Given the description of an element on the screen output the (x, y) to click on. 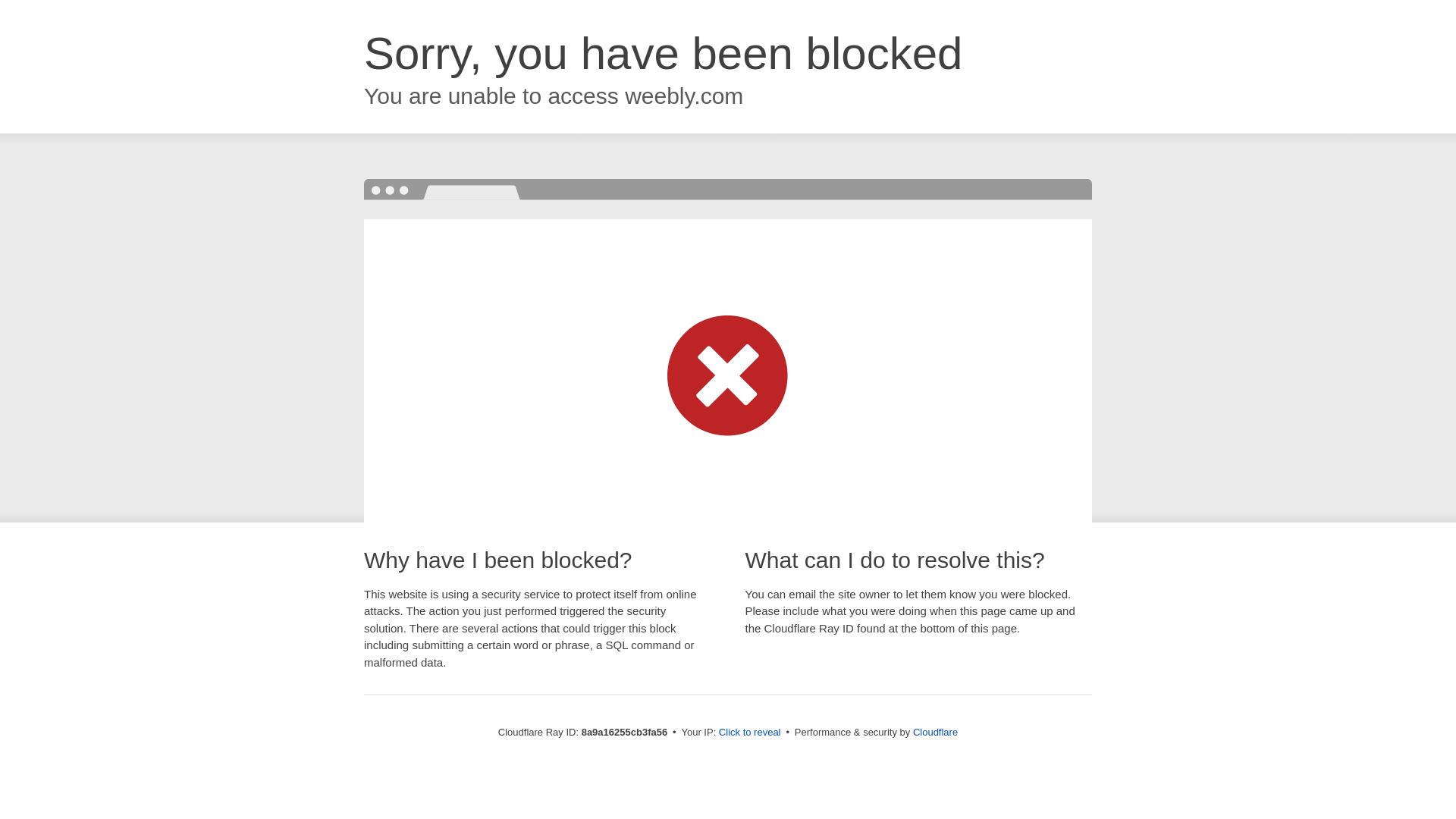
Click to reveal (749, 732)
Cloudflare (935, 731)
